Given the description of an element on the screen output the (x, y) to click on. 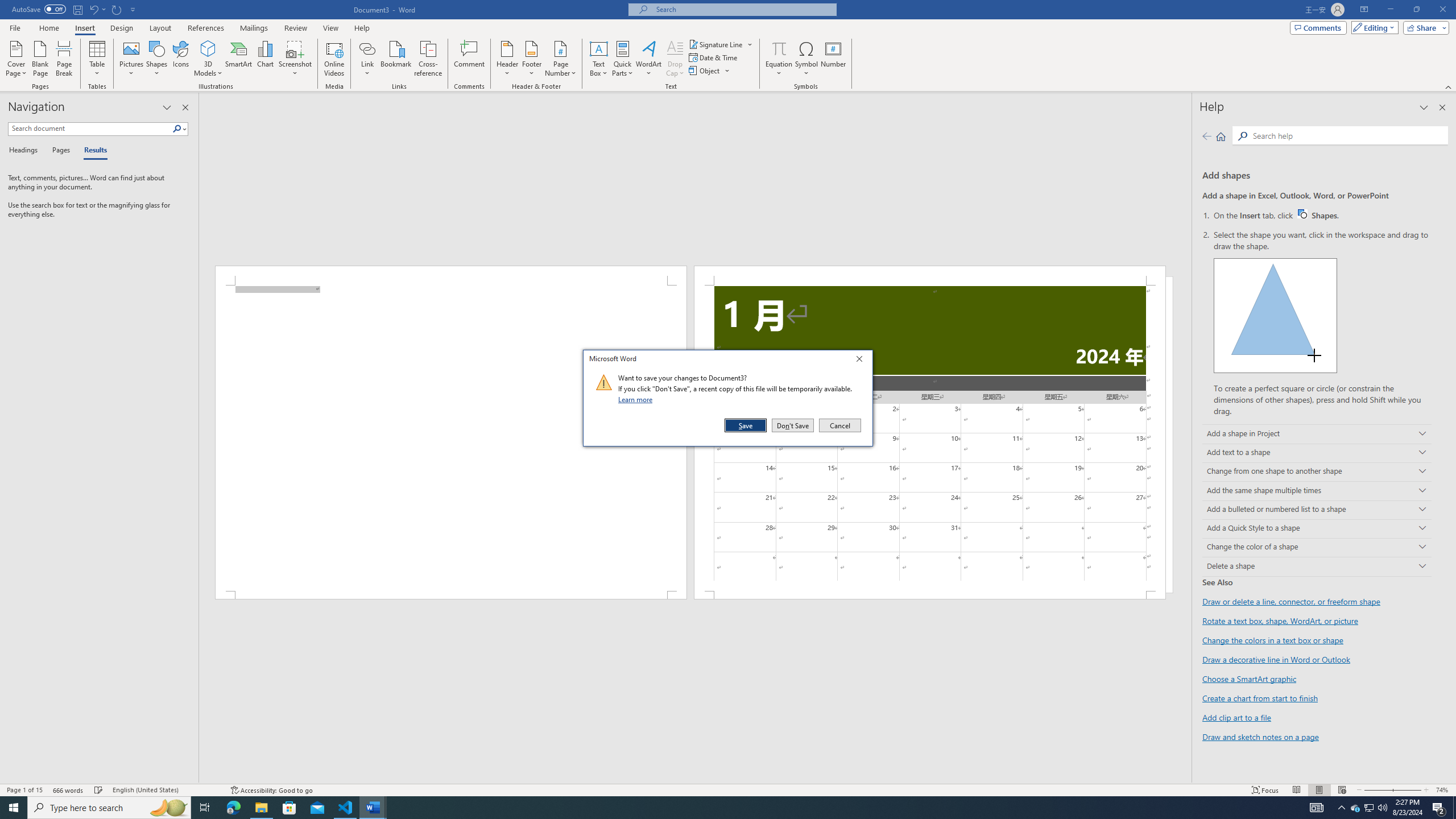
Microsoft Edge (233, 807)
Footer (531, 58)
Quick Parts (622, 58)
Cancel (839, 425)
Number... (833, 58)
Draw a decorative line in Word or Outlook (1275, 659)
Text Box (598, 58)
Action Center, 2 new notifications (1439, 807)
Notification Chevron (1341, 807)
